Given the description of an element on the screen output the (x, y) to click on. 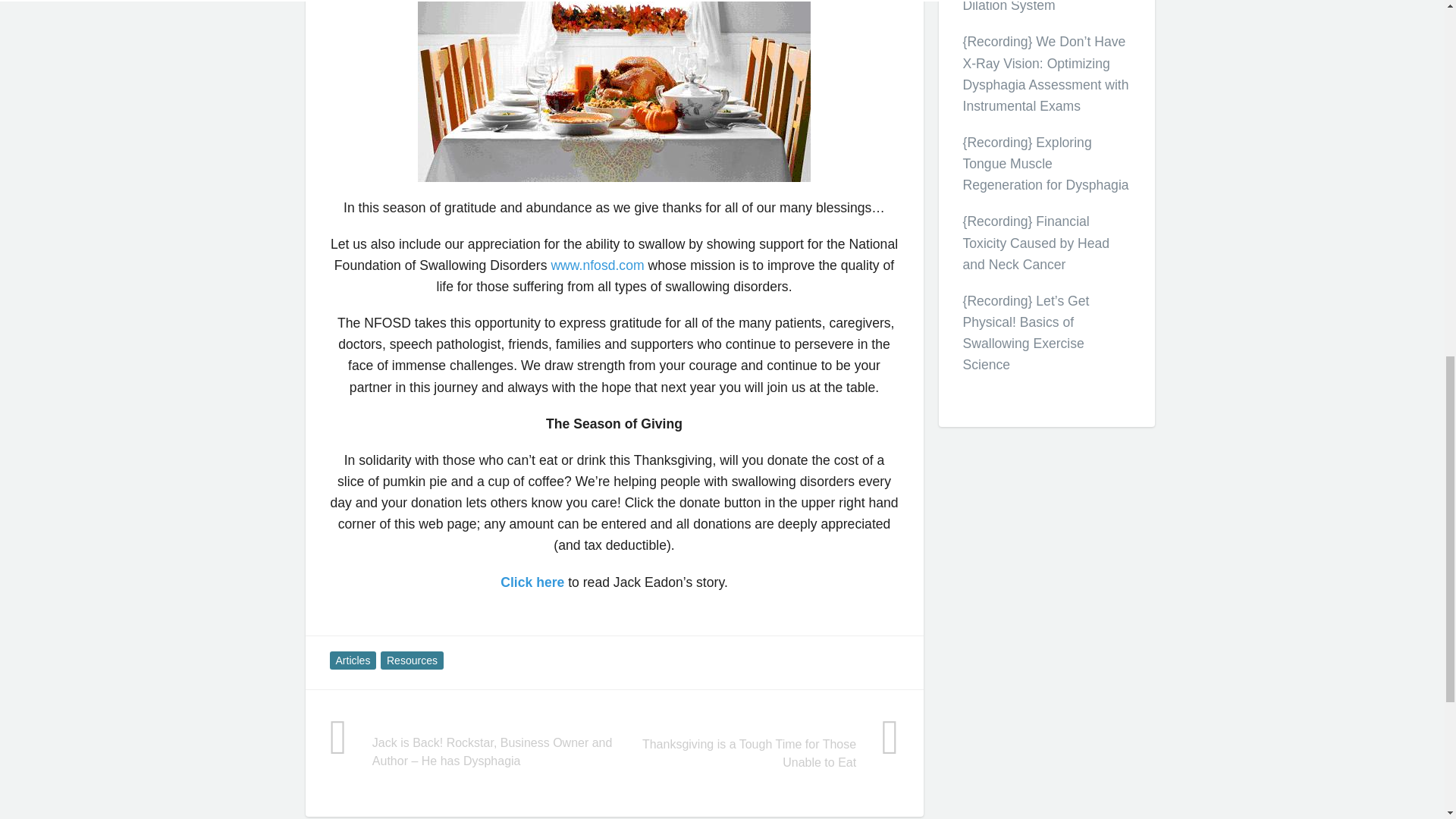
Thanksgiving dinner (613, 90)
